Given the description of an element on the screen output the (x, y) to click on. 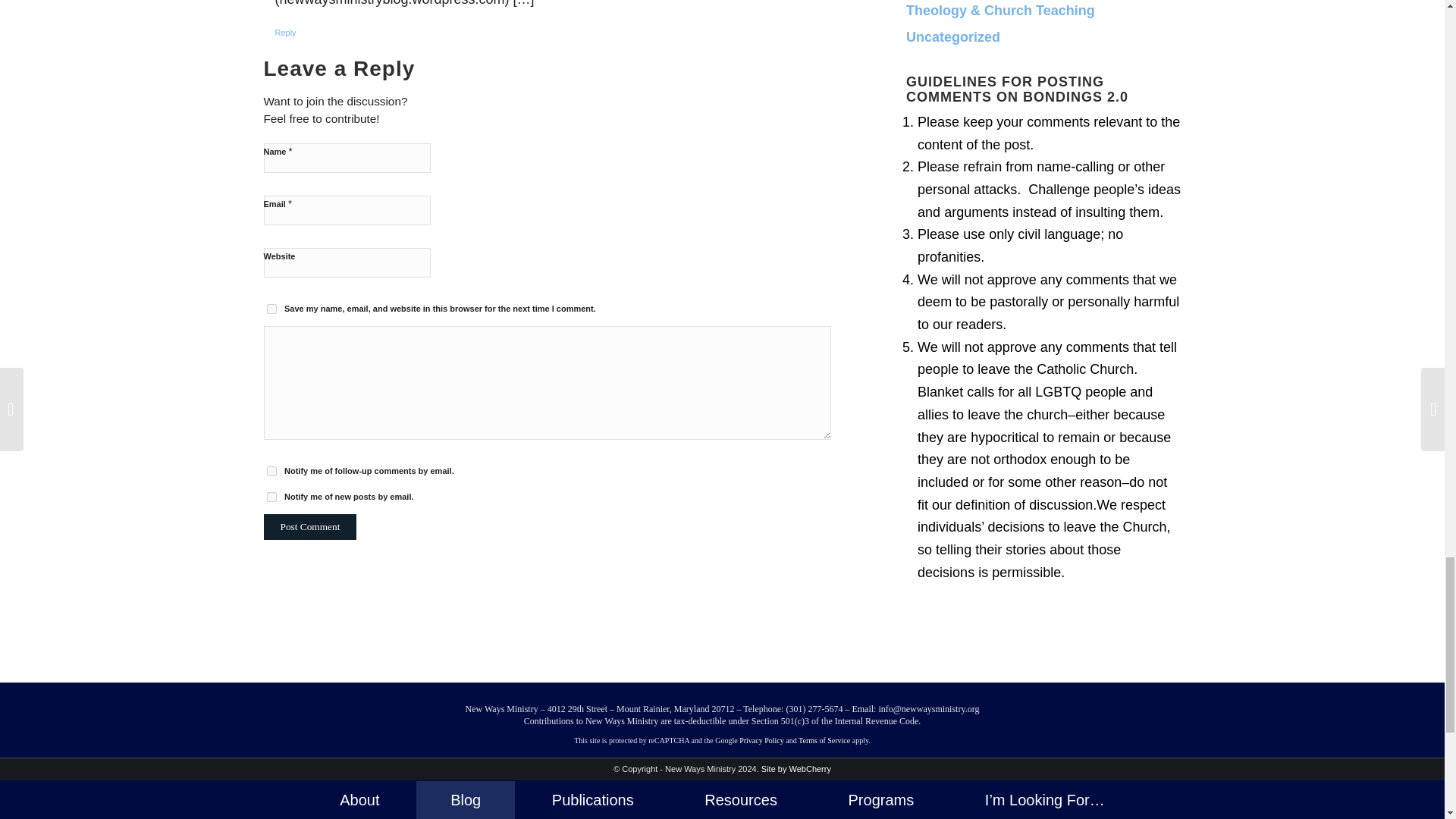
Post Comment (309, 526)
yes (271, 308)
subscribe (271, 497)
subscribe (271, 470)
